Given the description of an element on the screen output the (x, y) to click on. 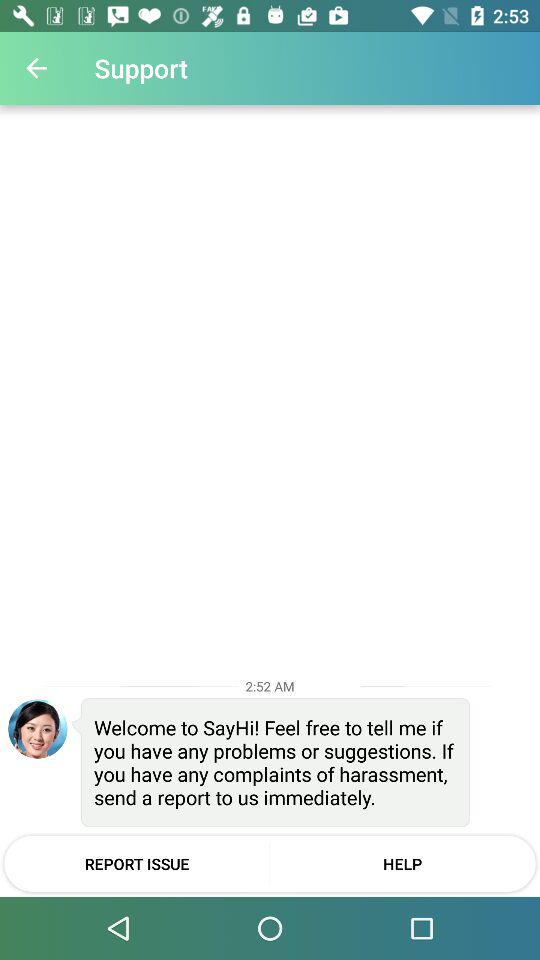
launch the item below the welcome to sayhi (402, 863)
